Given the description of an element on the screen output the (x, y) to click on. 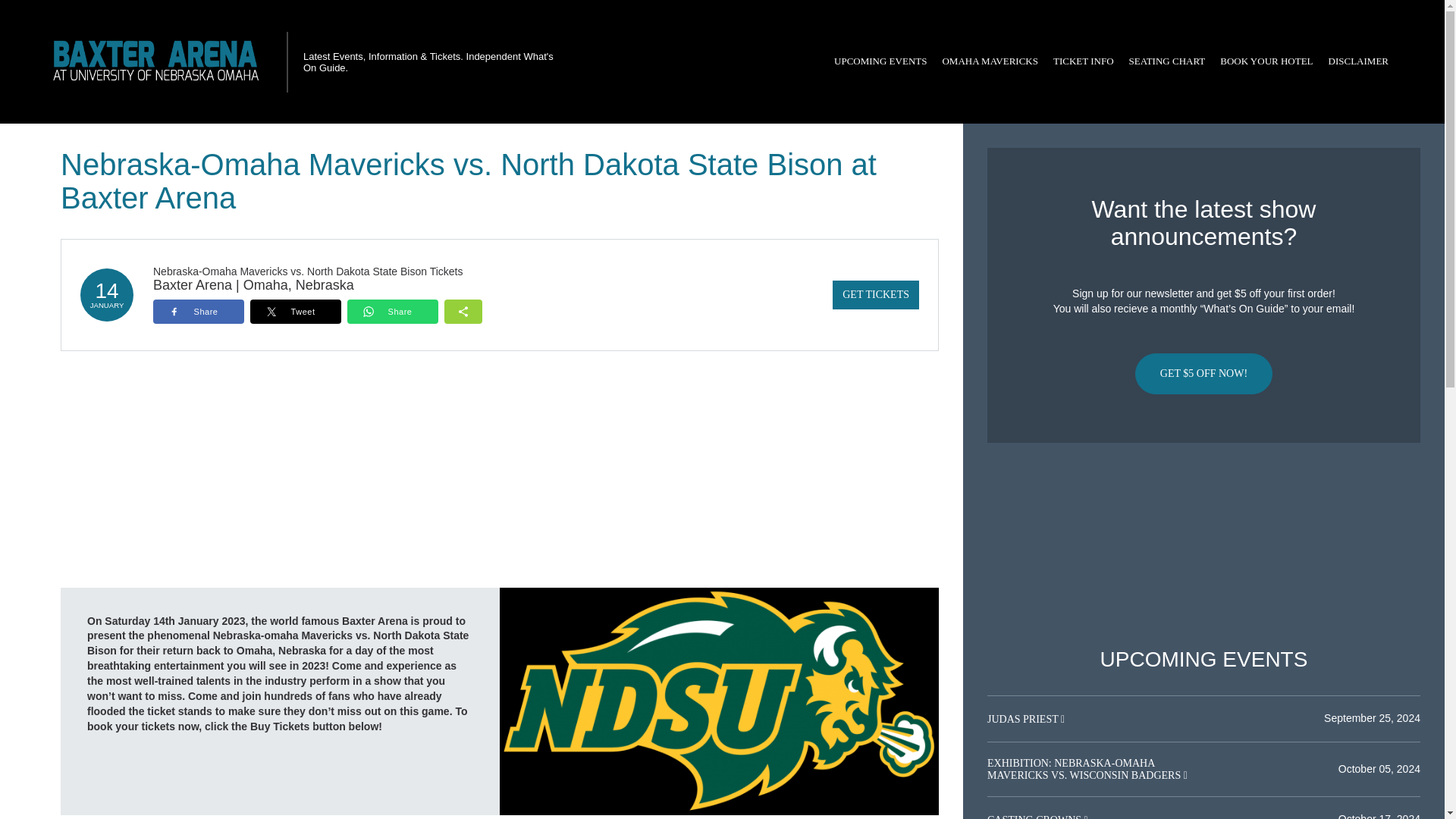
Advertisement (1204, 545)
TICKET INFO (1083, 61)
GET TICKETS (875, 294)
UPCOMING EVENTS (880, 61)
SEATING CHART (1166, 61)
OMAHA MAVERICKS (989, 61)
JUDAS PRIEST (1024, 718)
BOOK YOUR HOTEL (1266, 61)
CASTING CROWNS (1035, 816)
DISCLAIMER (1358, 61)
